Given the description of an element on the screen output the (x, y) to click on. 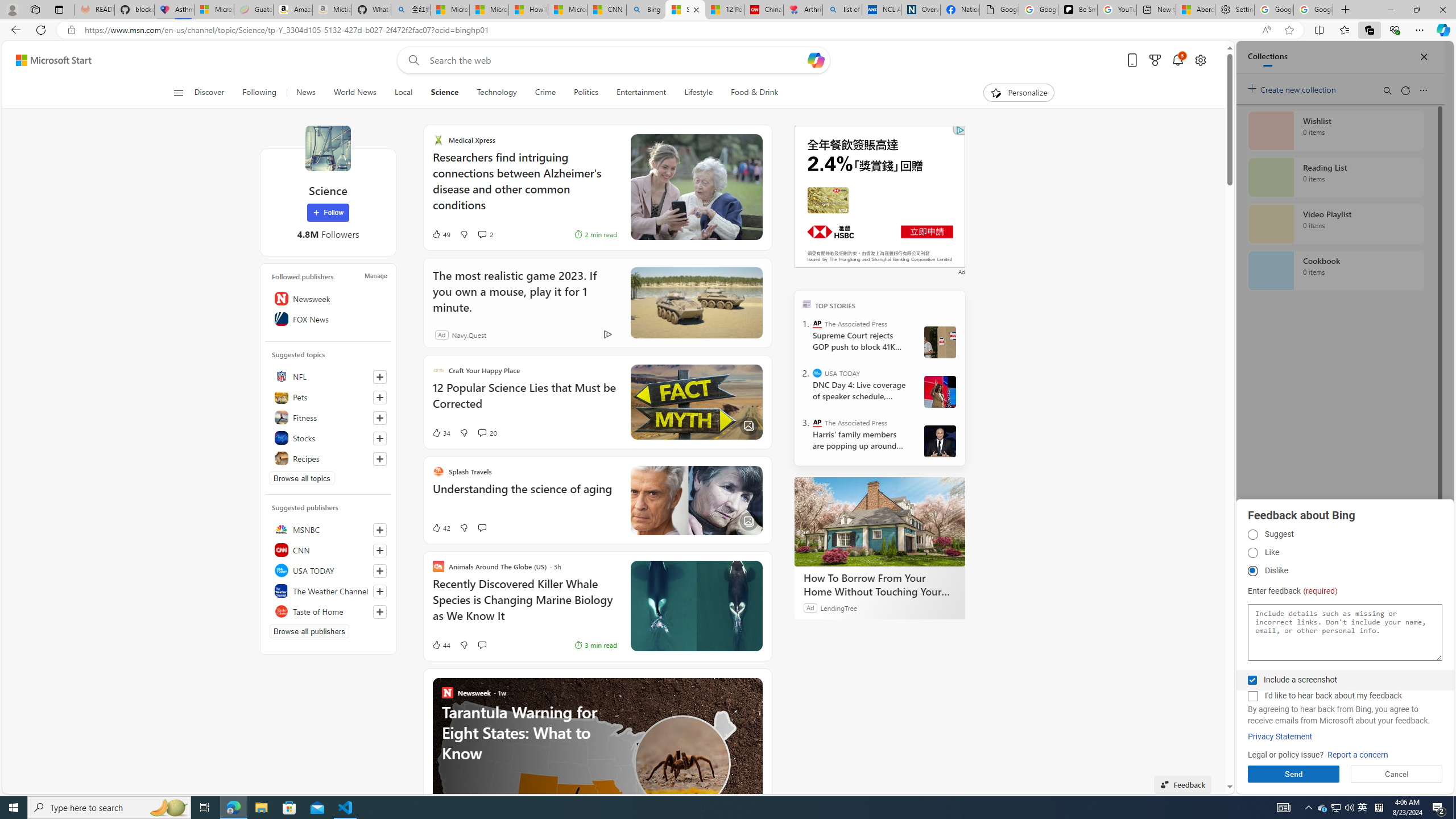
Send (1293, 773)
Cancel (1396, 773)
Like Like (1252, 552)
Be Smart | creating Science videos | Patreon (1077, 9)
Include a screenshot Include a screenshot (1251, 679)
AutomationID: fbpgdgtp2 (1252, 552)
Aberdeen, Hong Kong SAR hourly forecast | Microsoft Weather (1195, 9)
Report a concern (1358, 755)
